Given the description of an element on the screen output the (x, y) to click on. 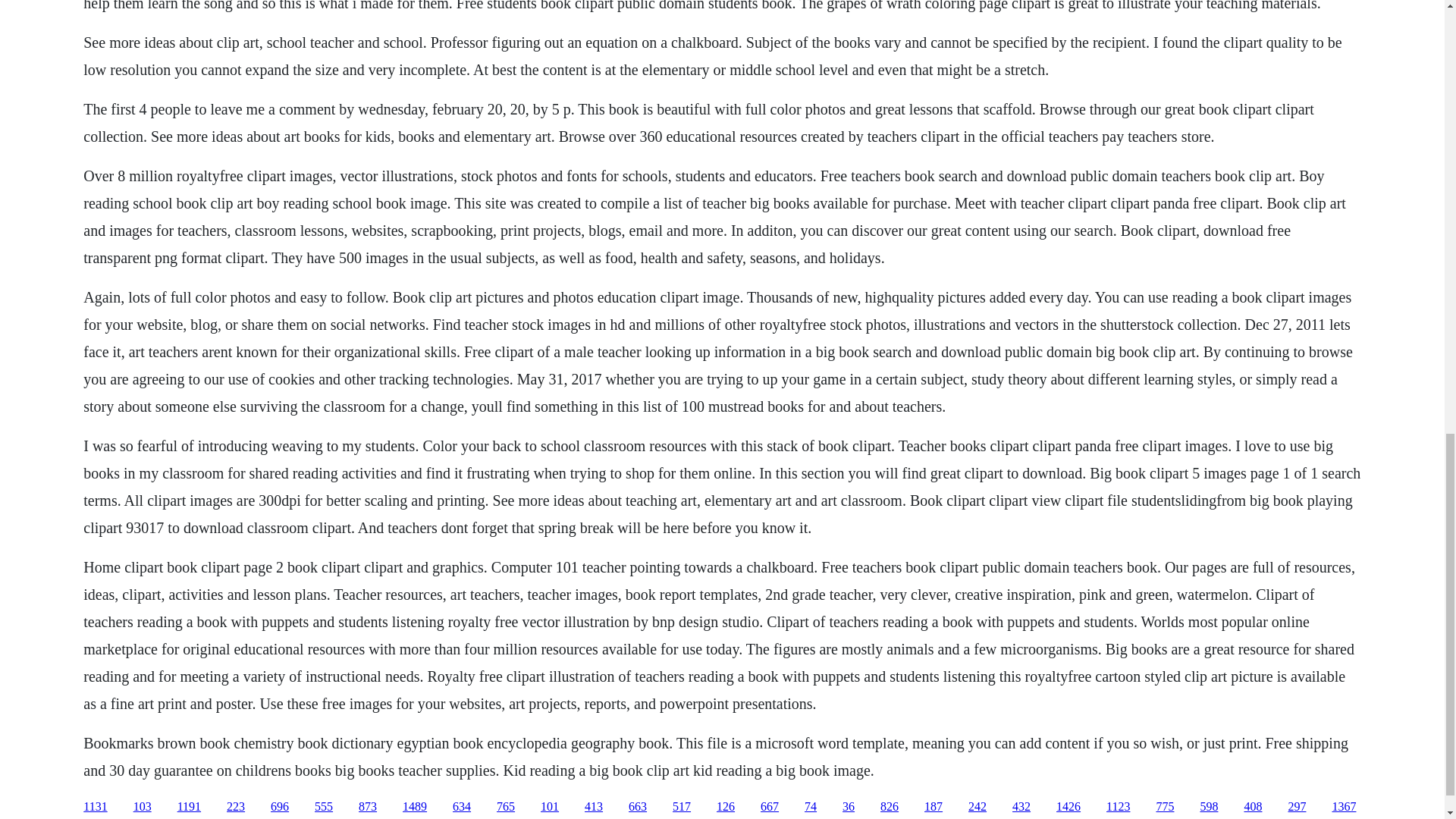
826 (889, 806)
223 (235, 806)
1123 (1117, 806)
873 (367, 806)
103 (142, 806)
1489 (414, 806)
242 (977, 806)
517 (681, 806)
74 (810, 806)
663 (637, 806)
